Given the description of an element on the screen output the (x, y) to click on. 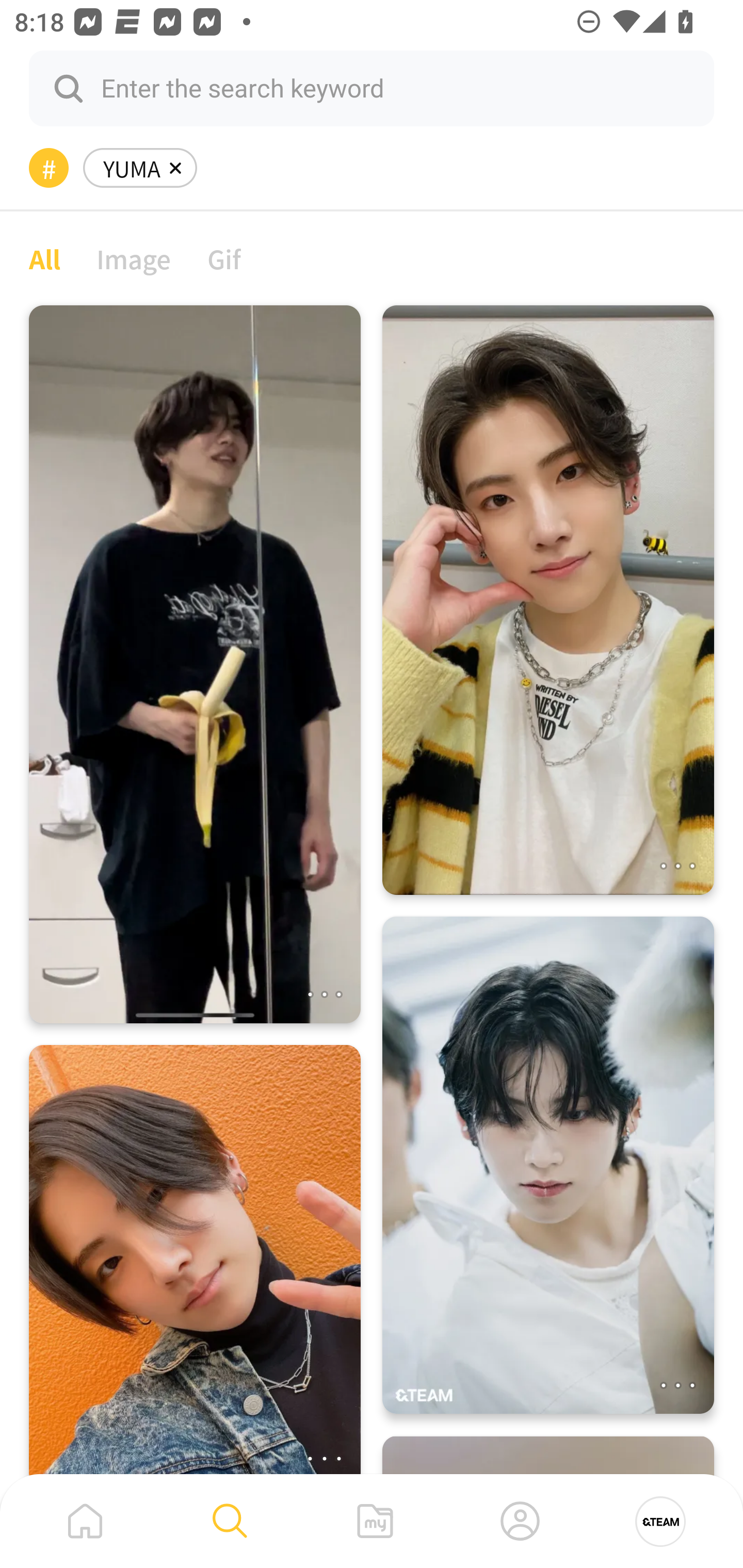
All (44, 257)
Image (133, 257)
Gif (223, 257)
